Given the description of an element on the screen output the (x, y) to click on. 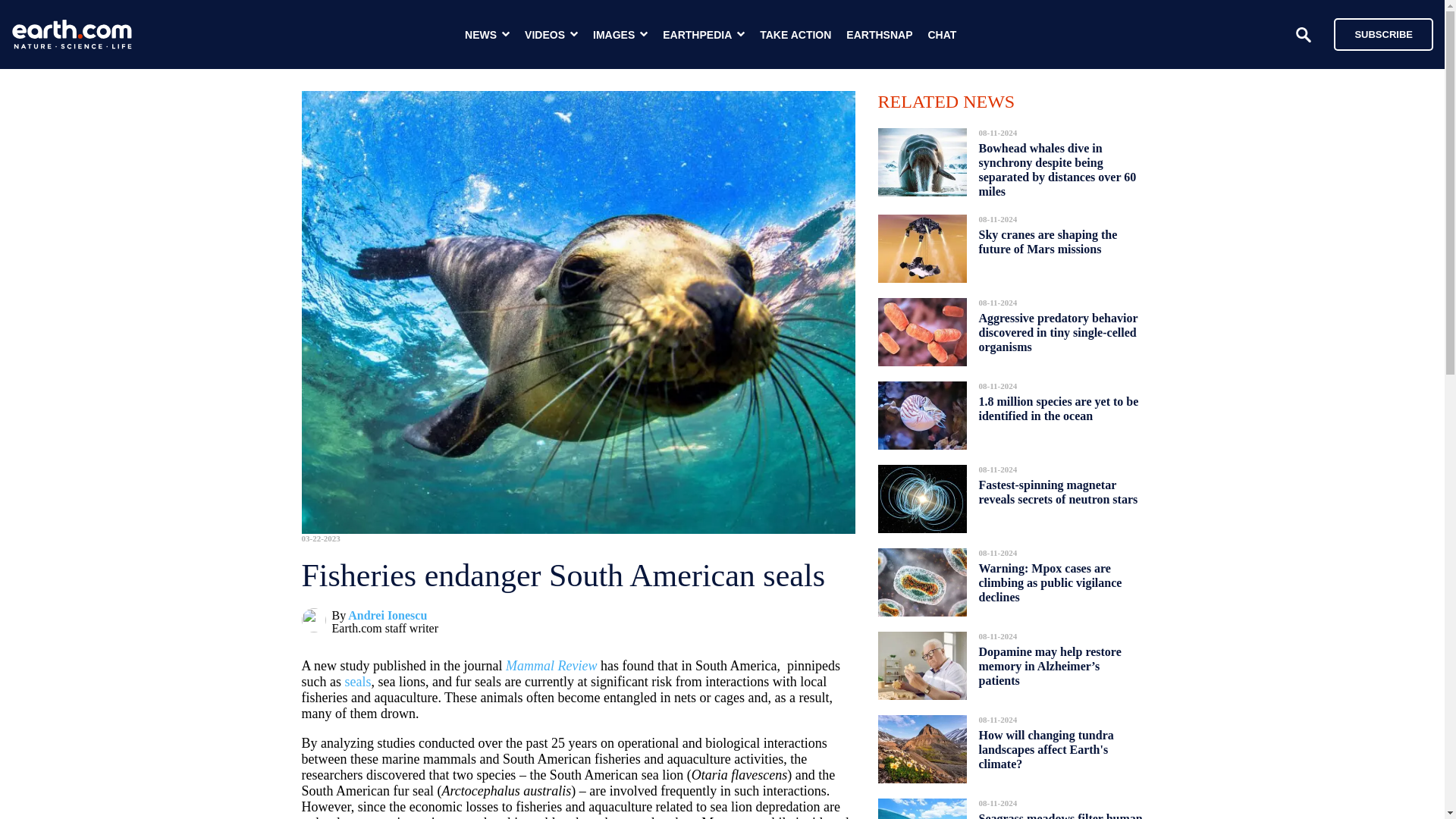
Mammal Review (550, 665)
SUBSCRIBE (1375, 33)
EARTHSNAP (878, 34)
Andrei Ionescu (386, 615)
CHAT (941, 34)
Fastest-spinning magnetar reveals secrets of neutron stars (1057, 491)
SUBSCRIBE (1382, 34)
seals (357, 681)
1.8 million species are yet to be identified in the ocean (1058, 408)
How will changing tundra landscapes affect Earth's climate? (1045, 749)
